Given the description of an element on the screen output the (x, y) to click on. 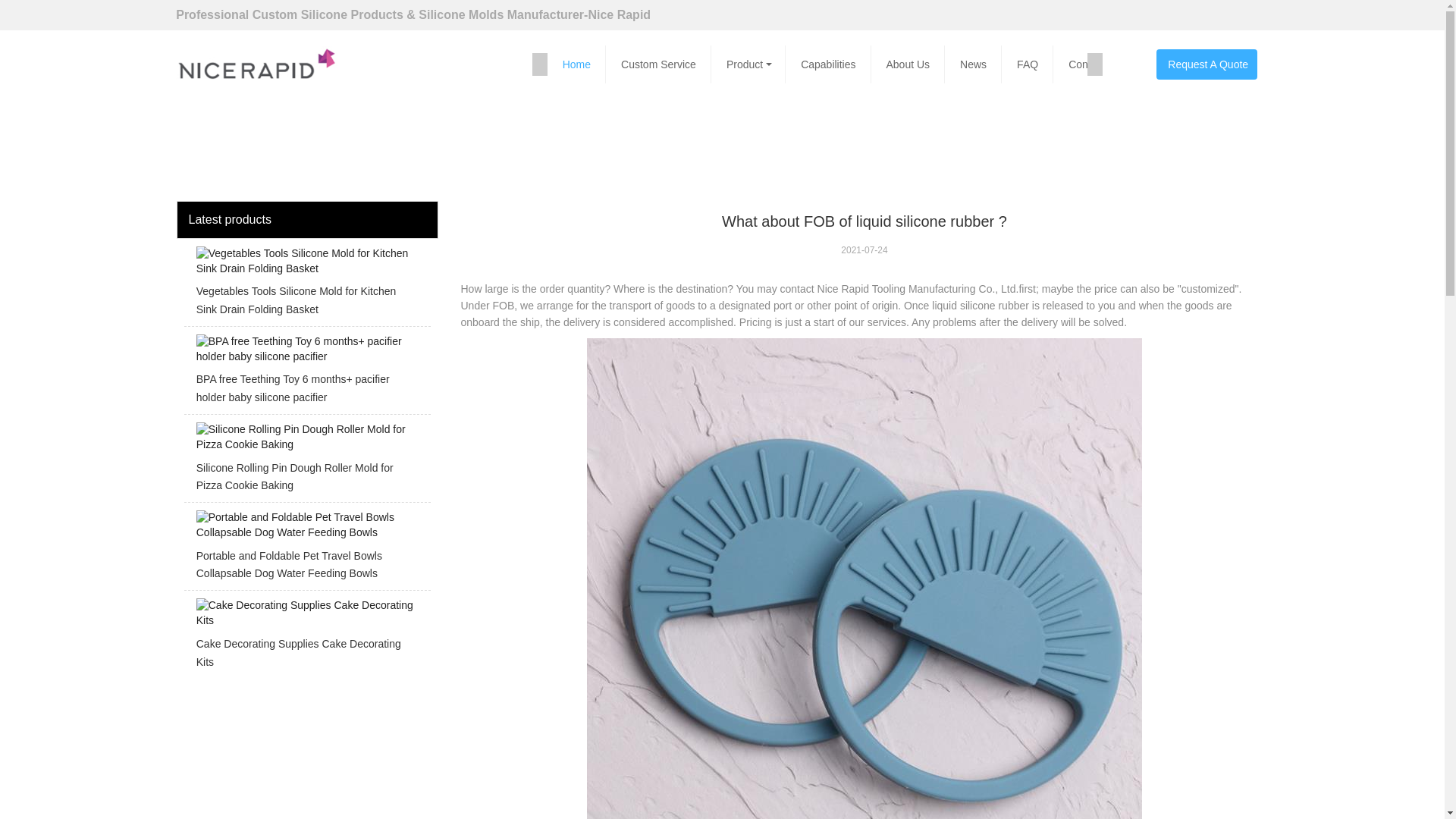
Contact Us (1093, 64)
Cake Decorating Supplies Cake Decorating Kits (306, 638)
About Us (907, 64)
Request A Quote (1205, 64)
Custom Service (658, 64)
Capabilities (828, 64)
Product (748, 64)
